Given the description of an element on the screen output the (x, y) to click on. 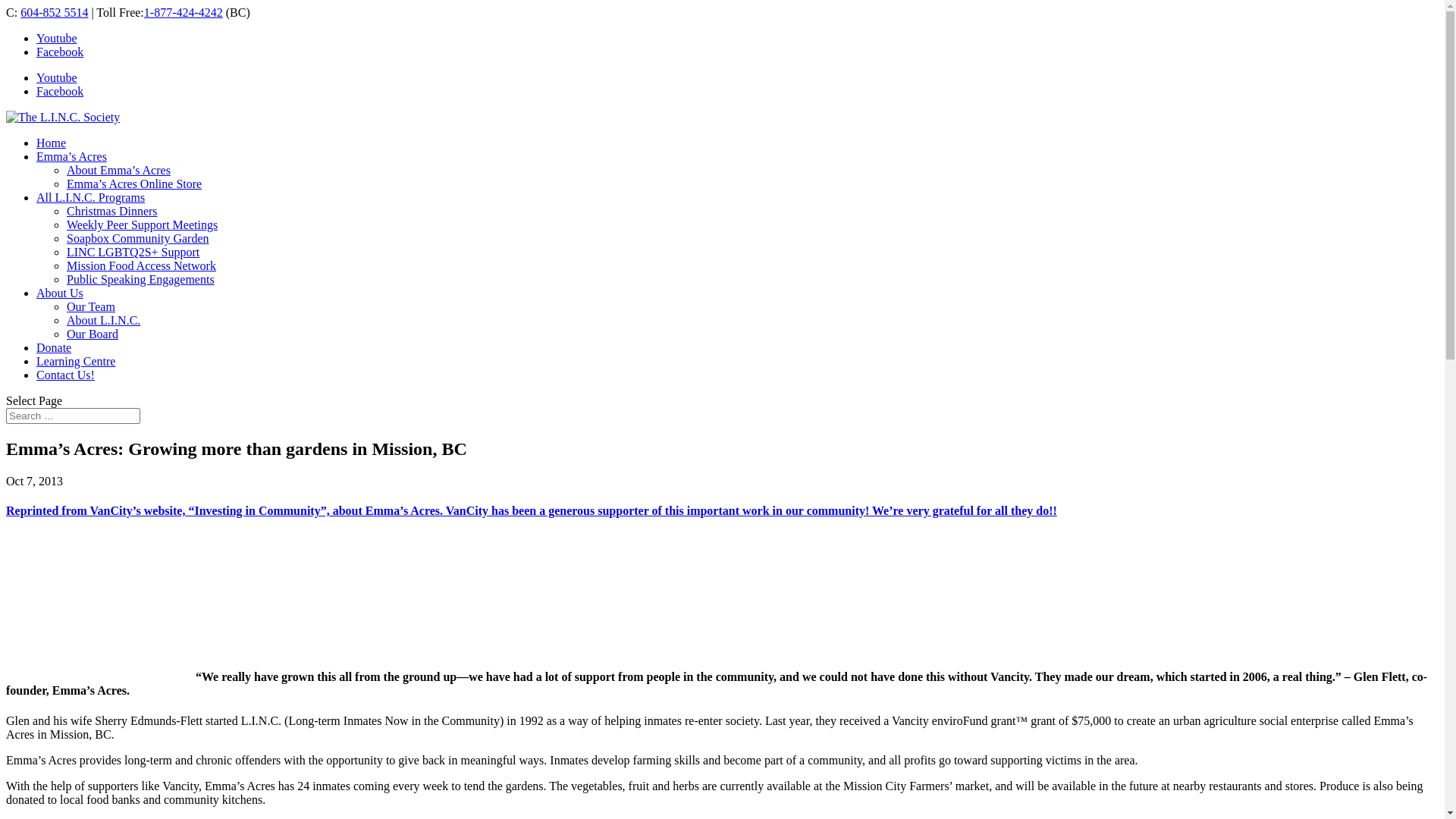
Facebook Element type: text (59, 51)
All L.I.N.C. Programs Element type: text (90, 197)
Weekly Peer Support Meetings Element type: text (141, 224)
Public Speaking Engagements Element type: text (140, 279)
Contact Us! Element type: text (65, 374)
Our Team Element type: text (90, 306)
Facebook Element type: text (59, 90)
About Us Element type: text (59, 292)
Our Board Element type: text (92, 333)
Learning Centre Element type: text (75, 360)
Youtube Element type: text (56, 77)
LINC LGBTQ2S+ Support Element type: text (132, 251)
Mission Food Access Network Element type: text (141, 265)
Christmas Dinners Element type: text (111, 210)
About L.I.N.C. Element type: text (103, 319)
Donate Element type: text (53, 347)
Soapbox Community Garden Element type: text (137, 238)
1-877-424-4242 Element type: text (183, 12)
Youtube Element type: text (56, 37)
Home Element type: text (50, 142)
Search for: Element type: hover (73, 415)
604-852 5514 Element type: text (53, 12)
